Given the description of an element on the screen output the (x, y) to click on. 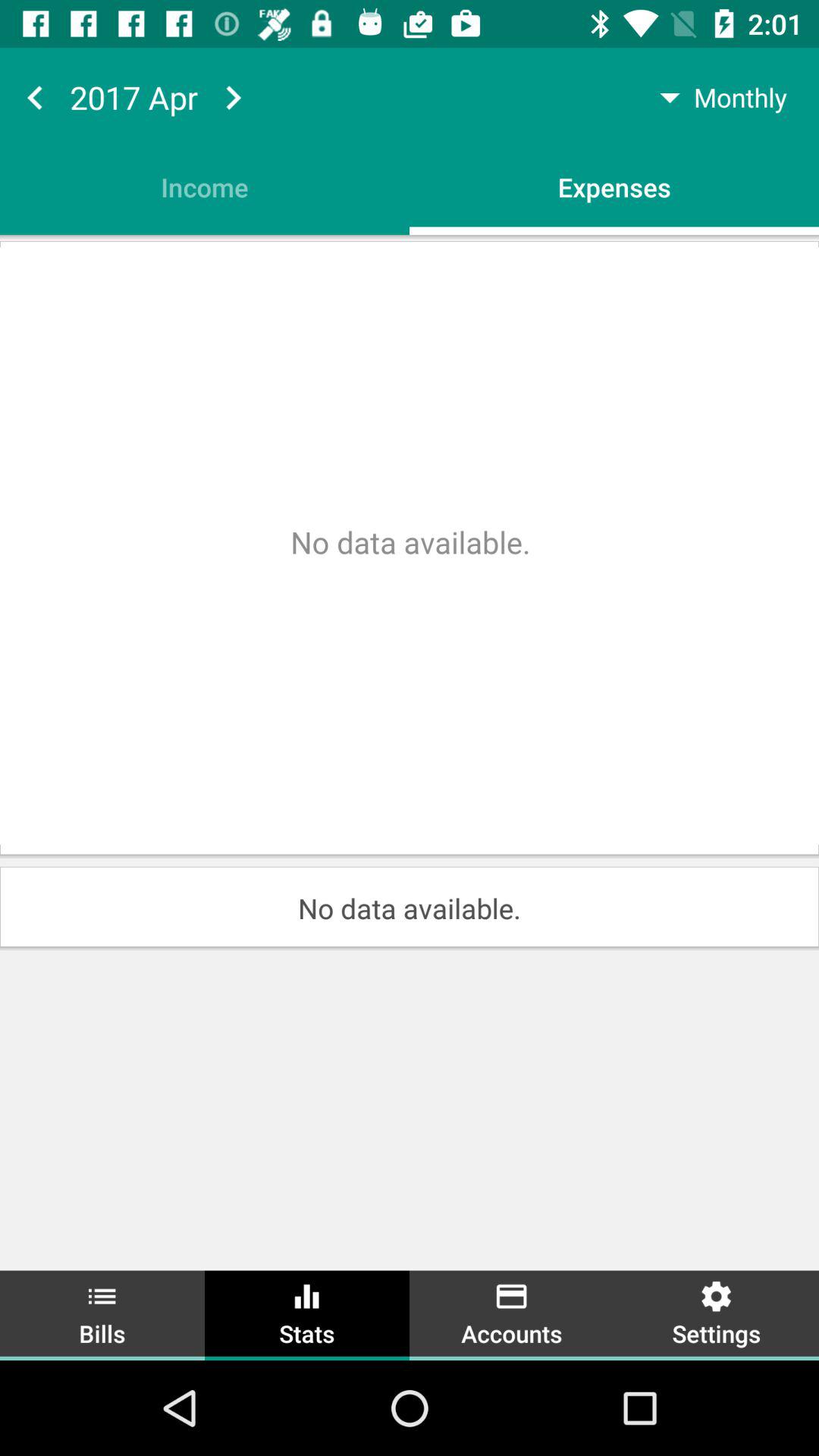
back icon (34, 97)
